Given the description of an element on the screen output the (x, y) to click on. 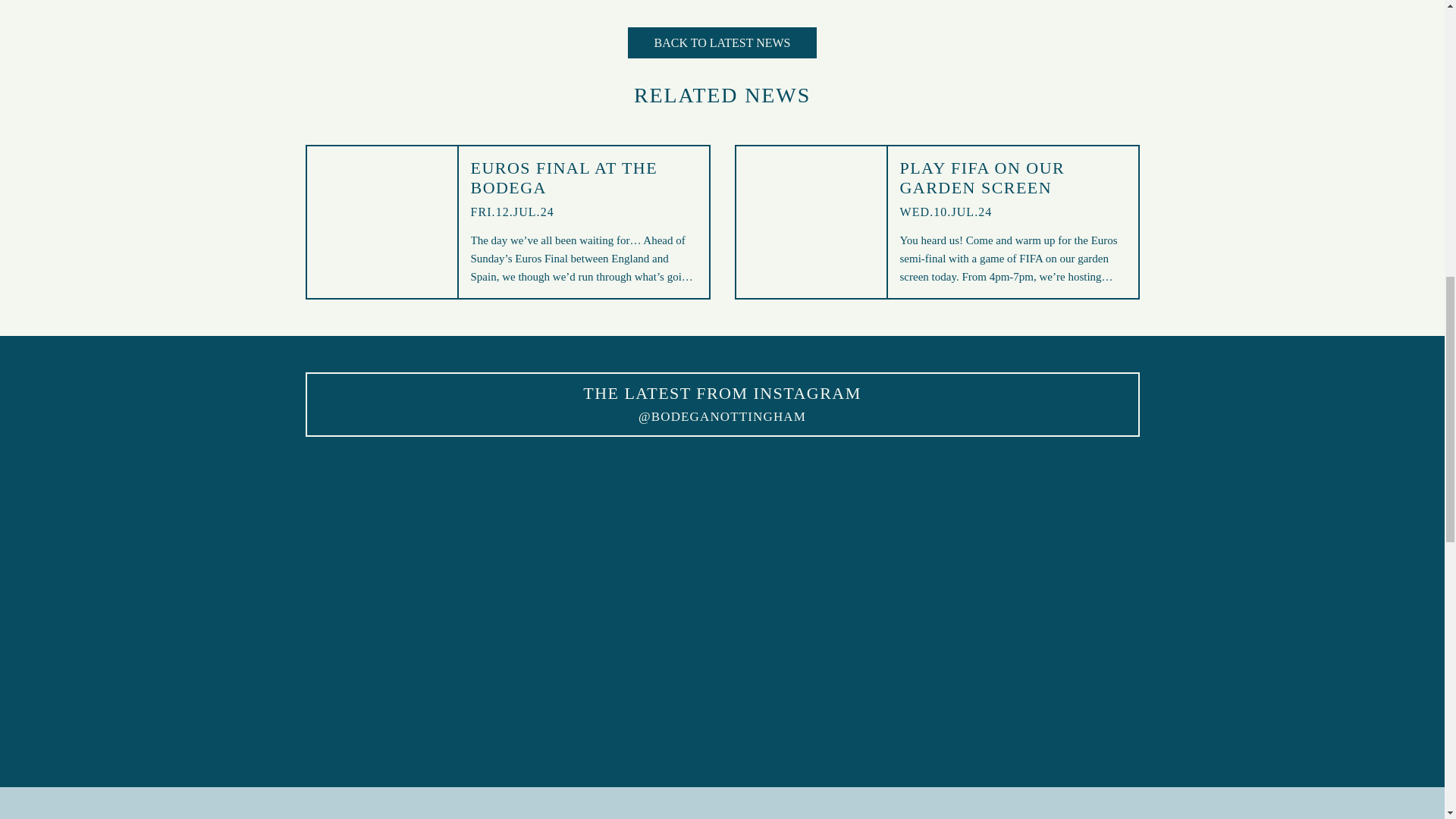
BACK TO LATEST NEWS (721, 42)
